Given the description of an element on the screen output the (x, y) to click on. 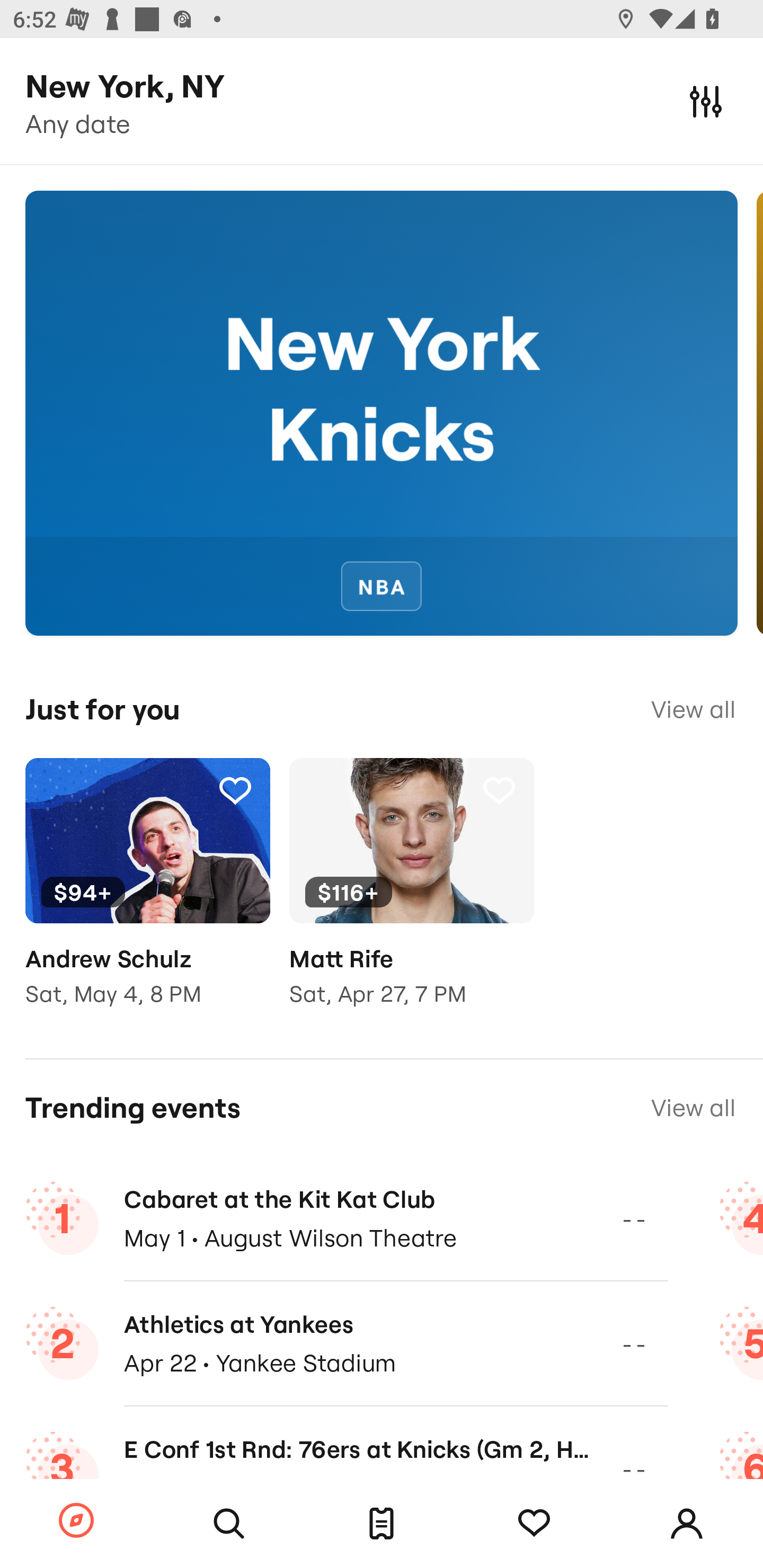
Filters (705, 100)
View all (693, 709)
Tracking $94+ Andrew Schulz Sat, May 4, 8 PM (147, 895)
Tracking $116+ Matt Rife Sat, Apr 27, 7 PM (411, 895)
Tracking (234, 790)
Tracking (498, 790)
View all (693, 1108)
Browse (76, 1521)
Search (228, 1523)
Tickets (381, 1523)
Tracking (533, 1523)
Account (686, 1523)
